Given the description of an element on the screen output the (x, y) to click on. 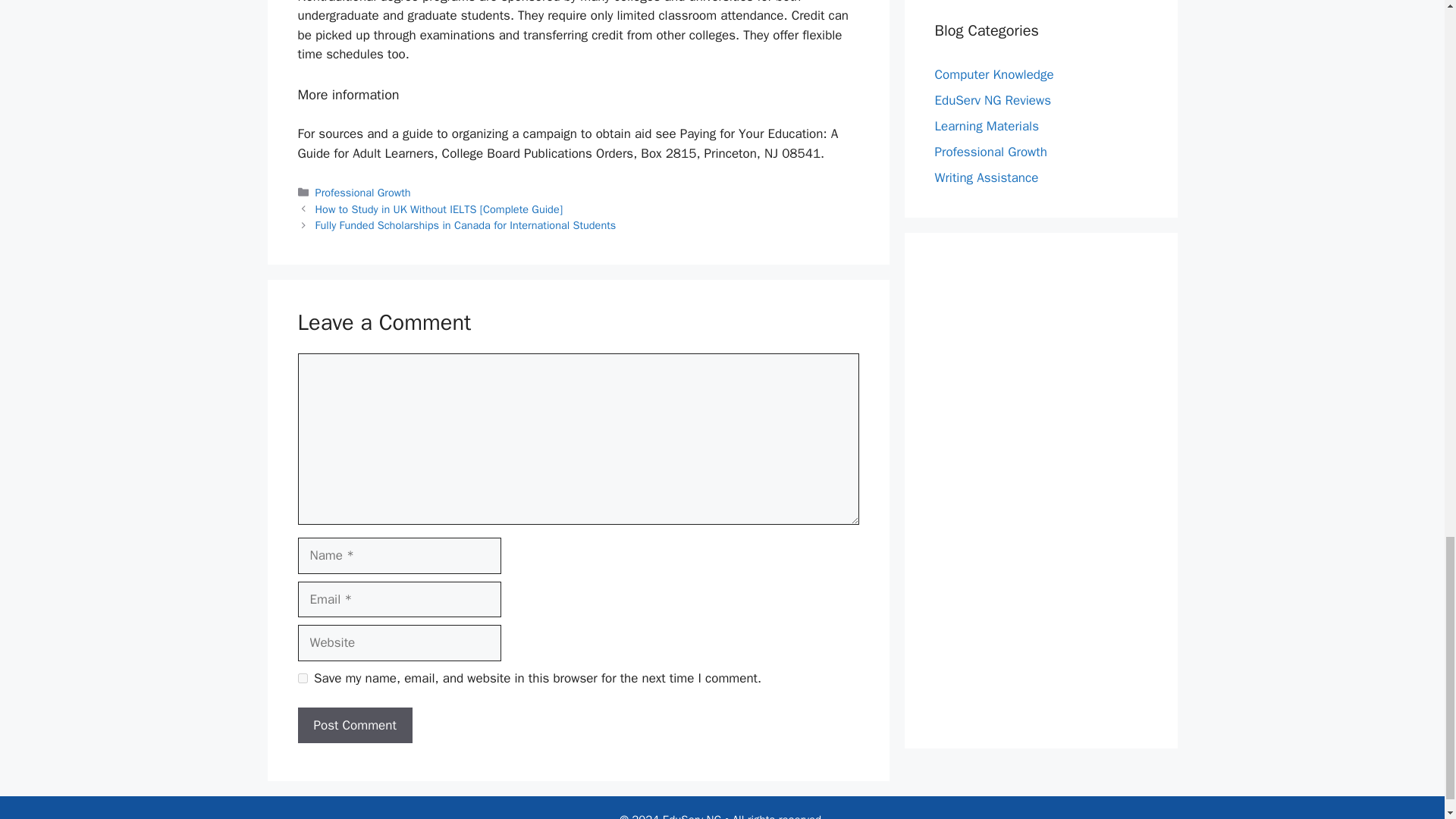
Post Comment (354, 725)
yes (302, 678)
Computer Knowledge (993, 74)
Post Comment (354, 725)
Professional Growth (362, 192)
